Given the description of an element on the screen output the (x, y) to click on. 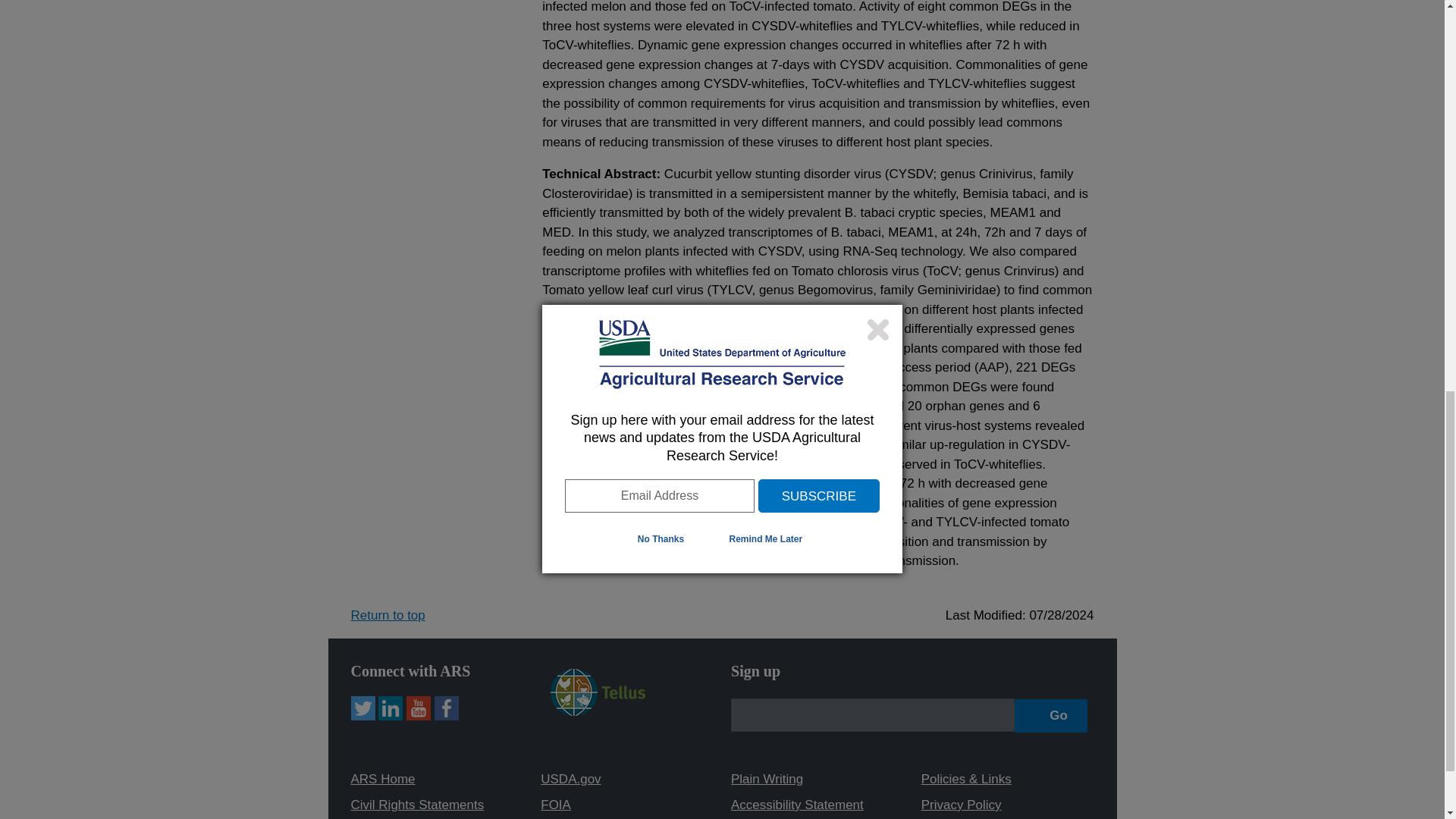
Tellus (597, 710)
Twitter (362, 708)
LinkedIn (390, 708)
Go (1050, 715)
Youtube (418, 708)
Facebook Icon (445, 708)
email (872, 715)
Tellus (597, 692)
